Given the description of an element on the screen output the (x, y) to click on. 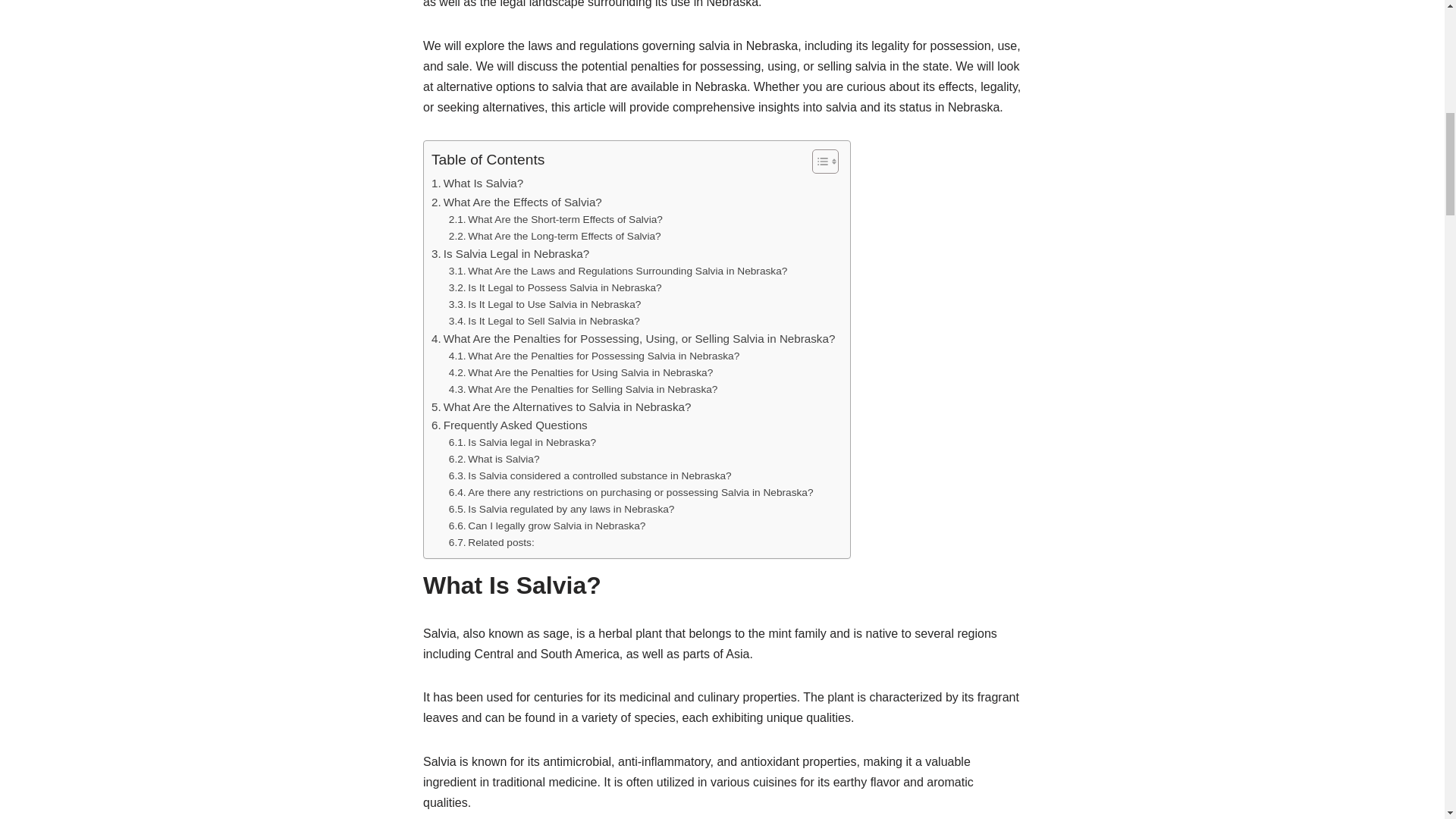
What Are the Short-term Effects of Salvia? (555, 219)
Is It Legal to Sell Salvia in Nebraska? (544, 321)
Is It Legal to Use Salvia in Nebraska? (545, 304)
What Are the Effects of Salvia? (516, 202)
What Are the Long-term Effects of Salvia? (554, 236)
What Is Salvia? (476, 183)
What Is Salvia? (476, 183)
What Are the Short-term Effects of Salvia? (555, 219)
Is Salvia Legal in Nebraska? (509, 253)
What Are the Effects of Salvia? (516, 202)
Is It Legal to Possess Salvia in Nebraska? (555, 288)
Is It Legal to Sell Salvia in Nebraska? (544, 321)
What Are the Long-term Effects of Salvia? (554, 236)
